Given the description of an element on the screen output the (x, y) to click on. 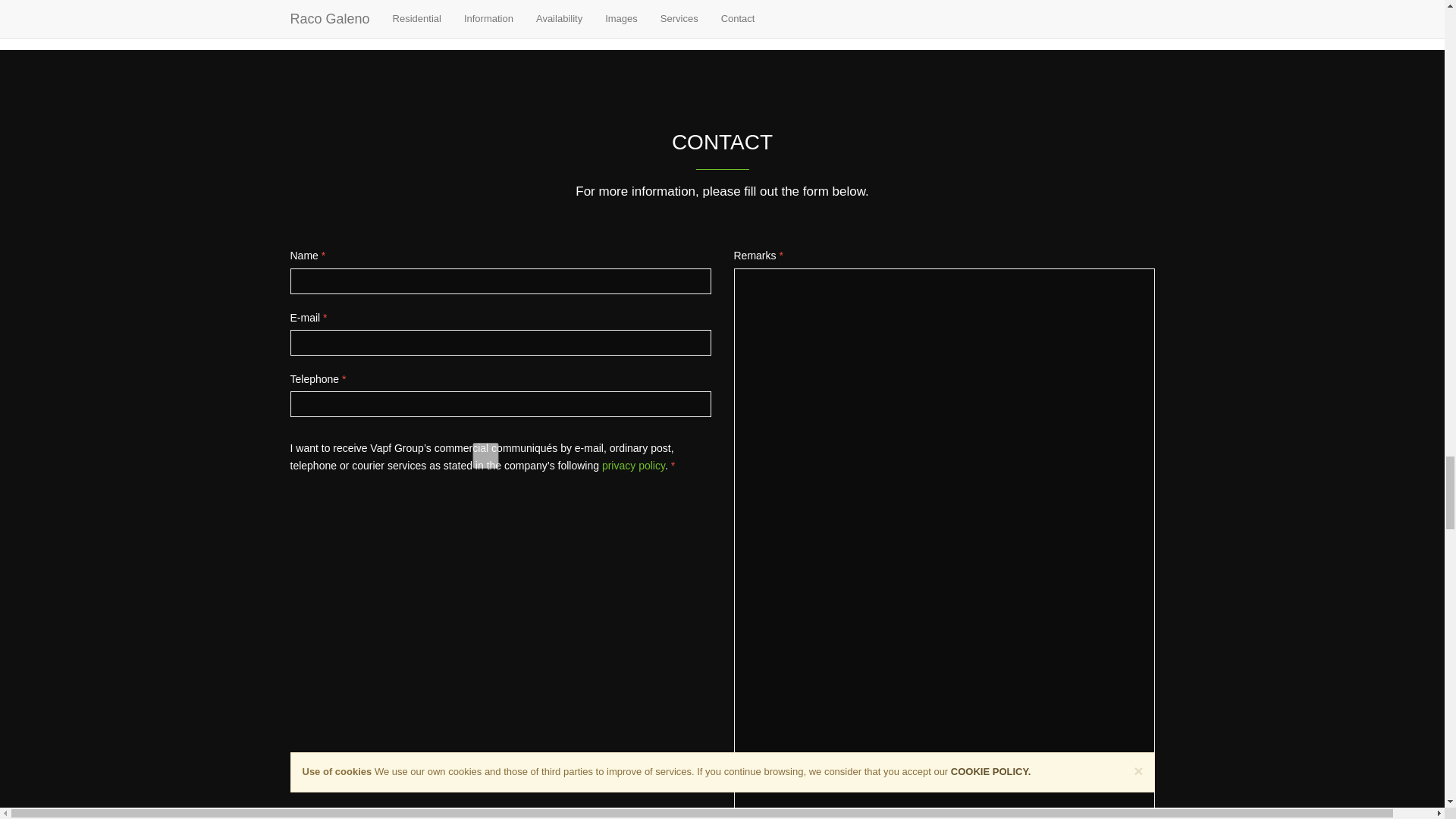
true (485, 455)
